Given the description of an element on the screen output the (x, y) to click on. 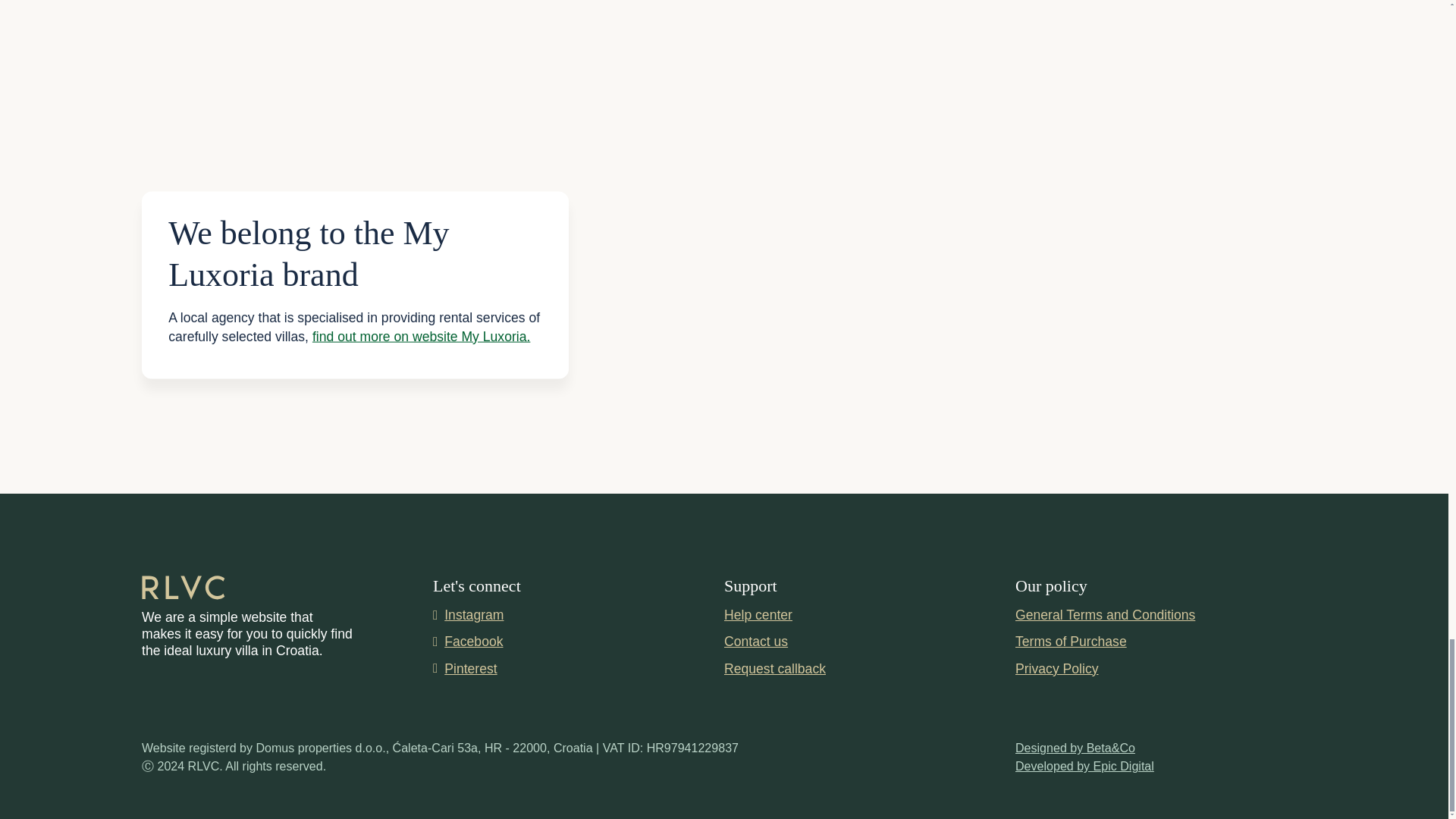
Pinterest (577, 668)
Privacy Policy (1056, 669)
Terms of Purchase (1070, 642)
Contact us (755, 641)
Request callback (774, 668)
Terms of Purchase (1070, 642)
General Terms and Conditions (1104, 616)
Privacy Policy (1056, 669)
find out more on website My Luxoria. (422, 335)
Help center (757, 616)
